Given the description of an element on the screen output the (x, y) to click on. 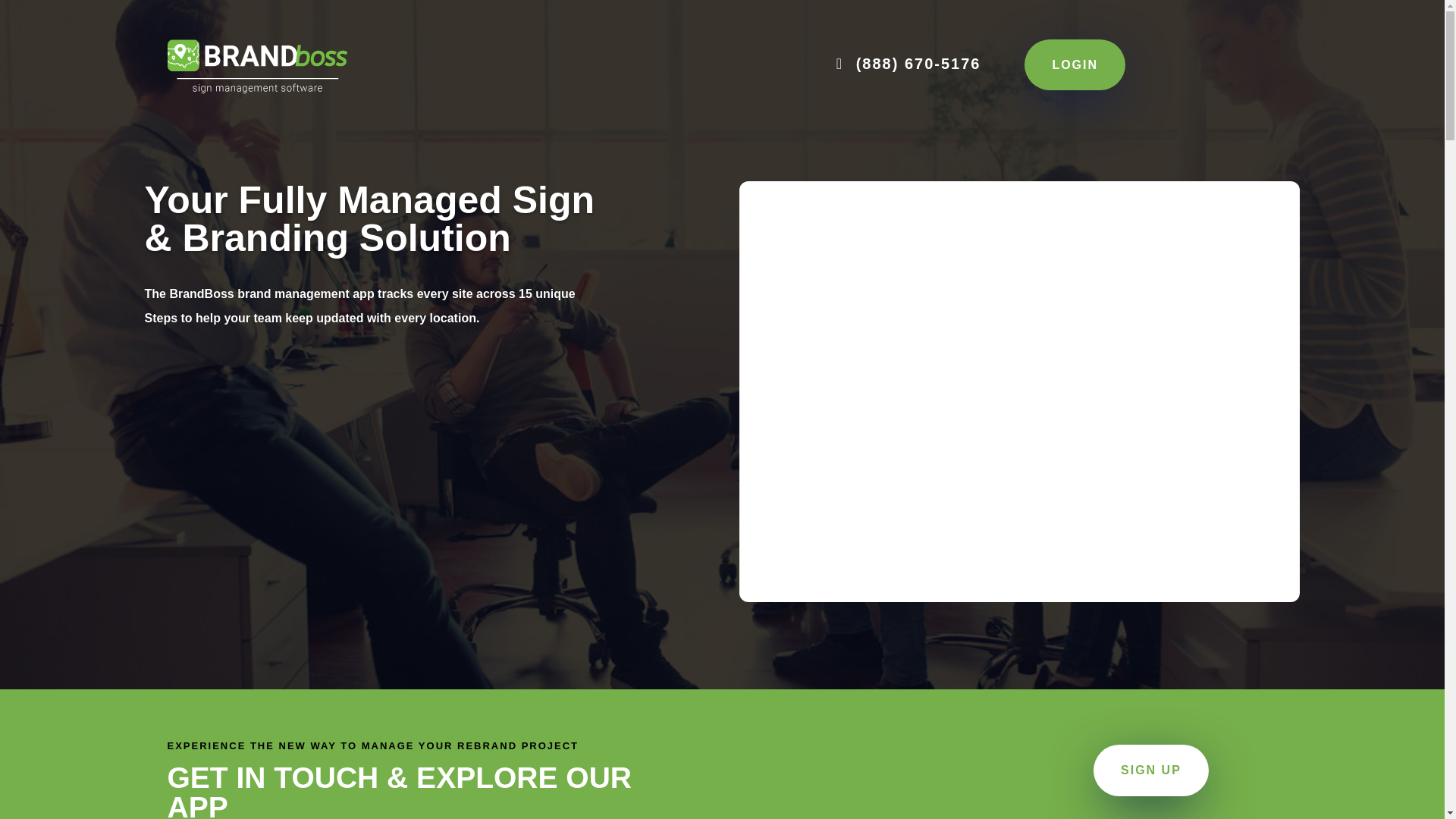
SIGN UP (1150, 769)
LOGIN (1075, 64)
